Given the description of an element on the screen output the (x, y) to click on. 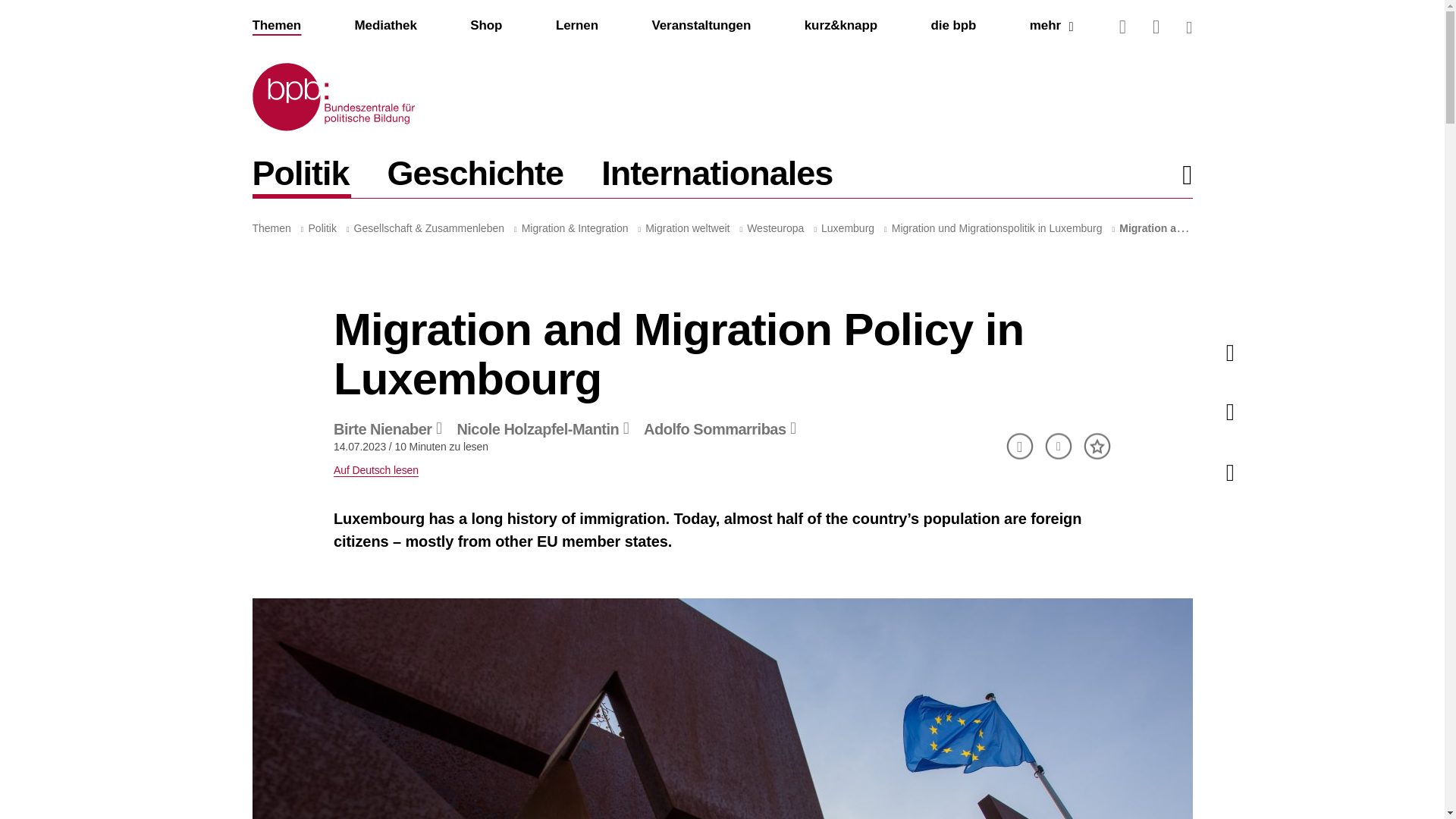
Shop (486, 25)
Mediathek (385, 25)
die bpb (953, 25)
Veranstaltungen (700, 25)
Mediathek (385, 25)
Themen (276, 26)
Geschichte (721, 172)
Veranstaltungen (475, 177)
Shop (700, 25)
Internationales (486, 25)
die bpb (716, 177)
Politik (1051, 25)
